Given the description of an element on the screen output the (x, y) to click on. 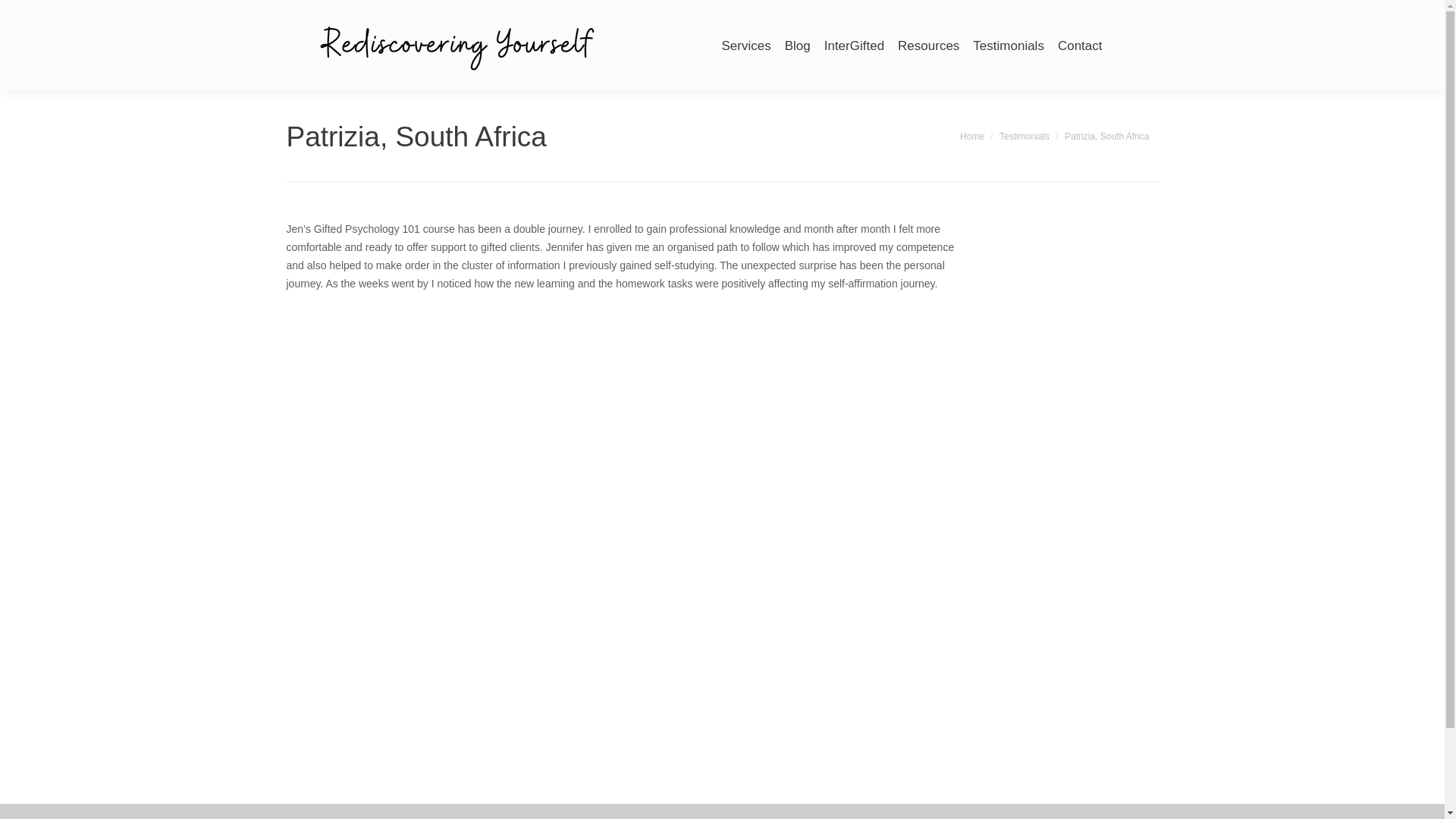
InterGifted (853, 45)
Services (746, 45)
Testimonials (1023, 136)
Home (971, 136)
Resources (928, 45)
Blog (797, 45)
Contact (1080, 45)
Testimonials (1007, 45)
WordPressforGood (520, 795)
Home (971, 136)
Testimonials (1023, 136)
